Given the description of an element on the screen output the (x, y) to click on. 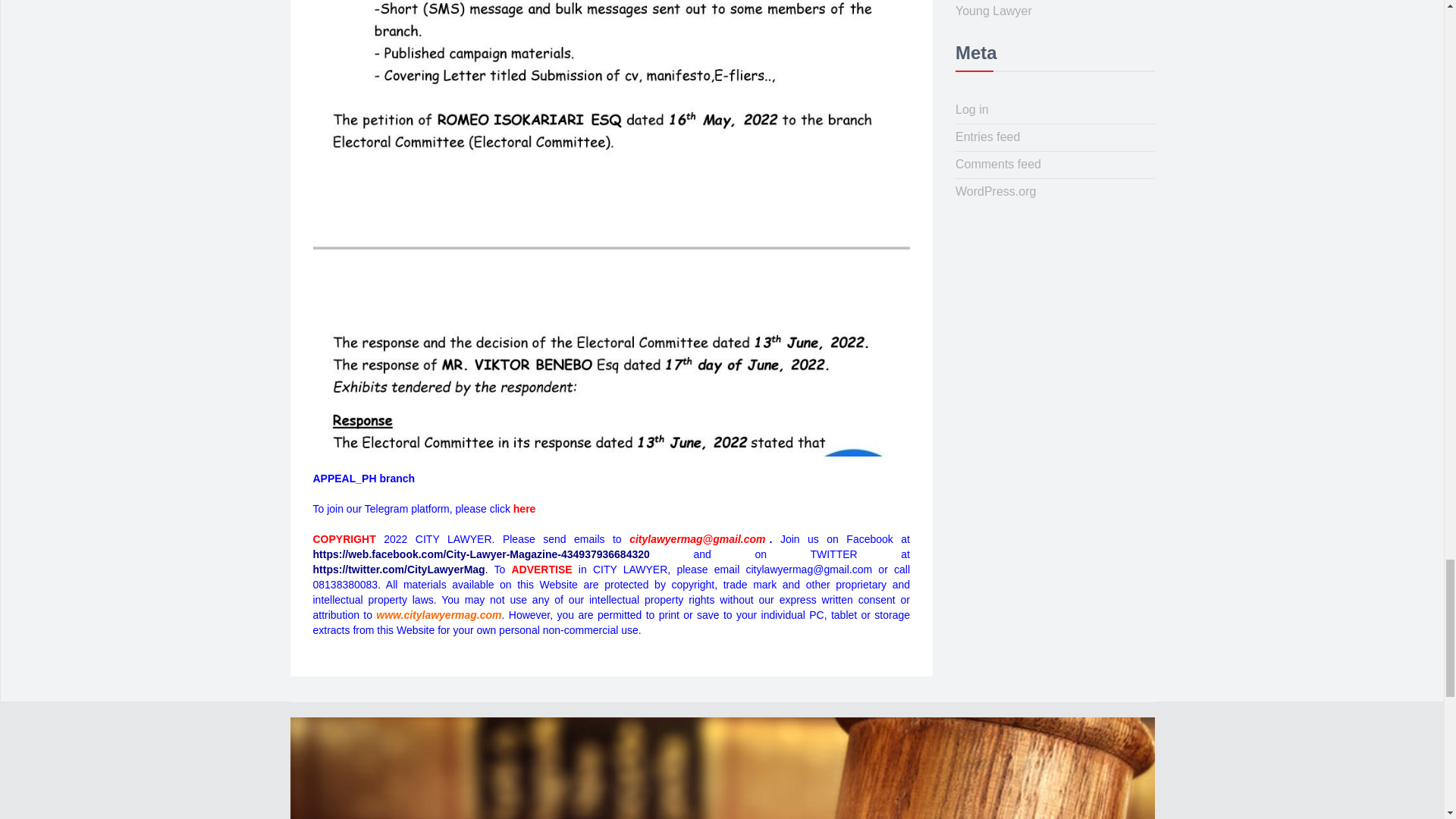
here (524, 508)
